Given the description of an element on the screen output the (x, y) to click on. 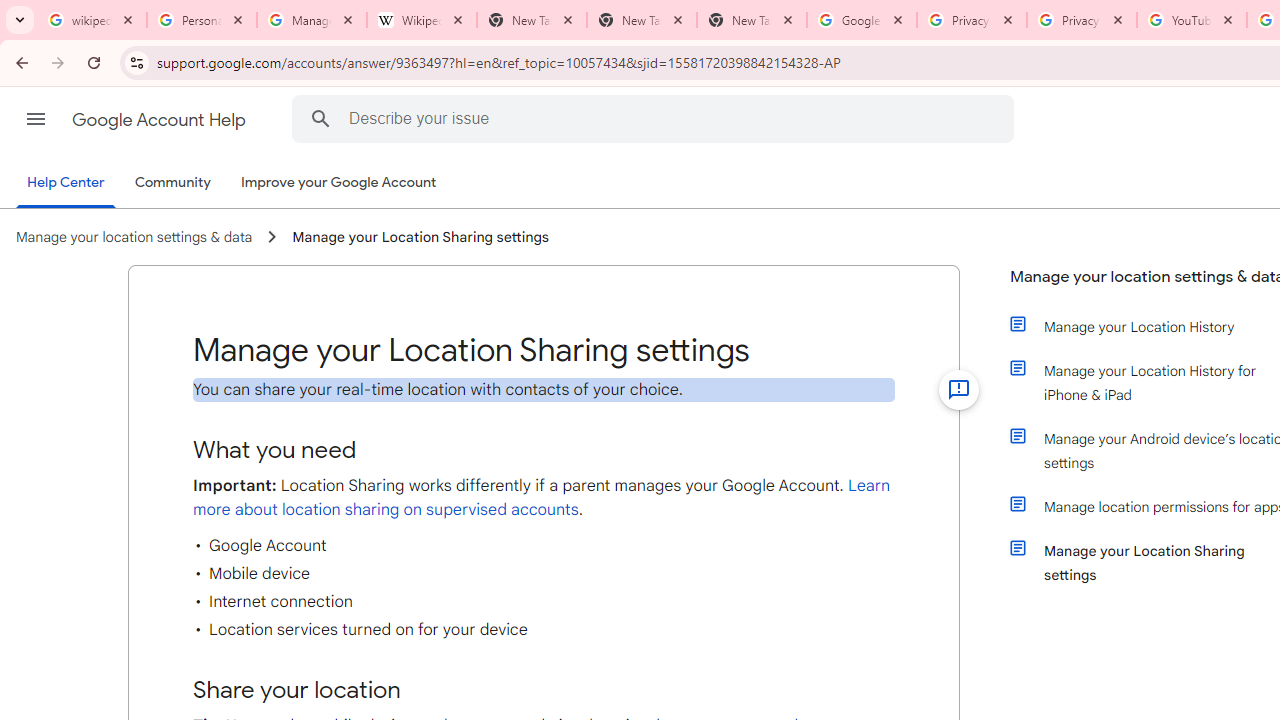
Manage your location settings & data (134, 237)
Google Account Help (160, 119)
YouTube (1191, 20)
Search Help Center (320, 118)
Manage your Location Sharing settings (420, 237)
